Given the description of an element on the screen output the (x, y) to click on. 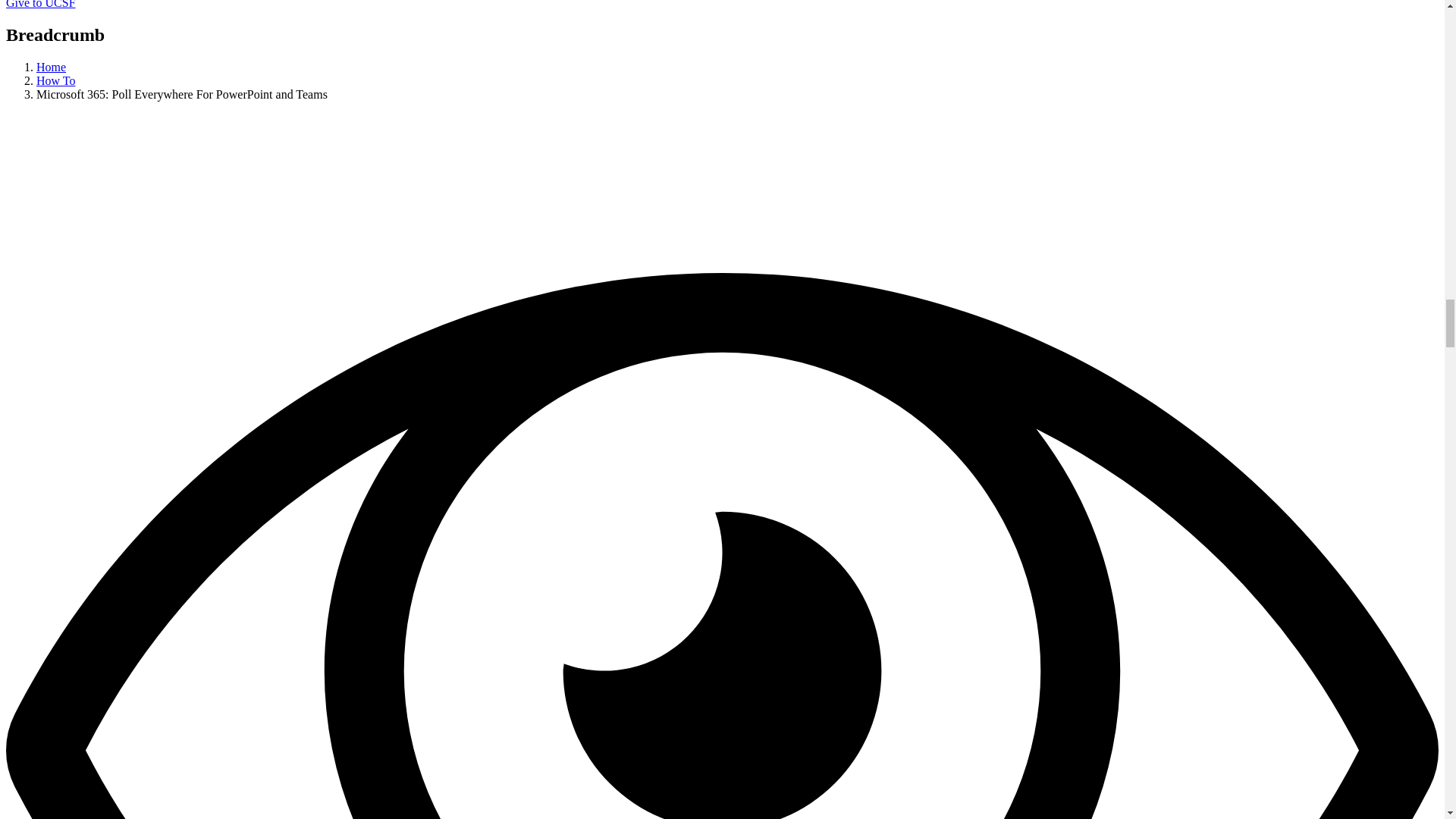
Home (50, 66)
How To (55, 80)
Give to UCSF (40, 4)
